Given the description of an element on the screen output the (x, y) to click on. 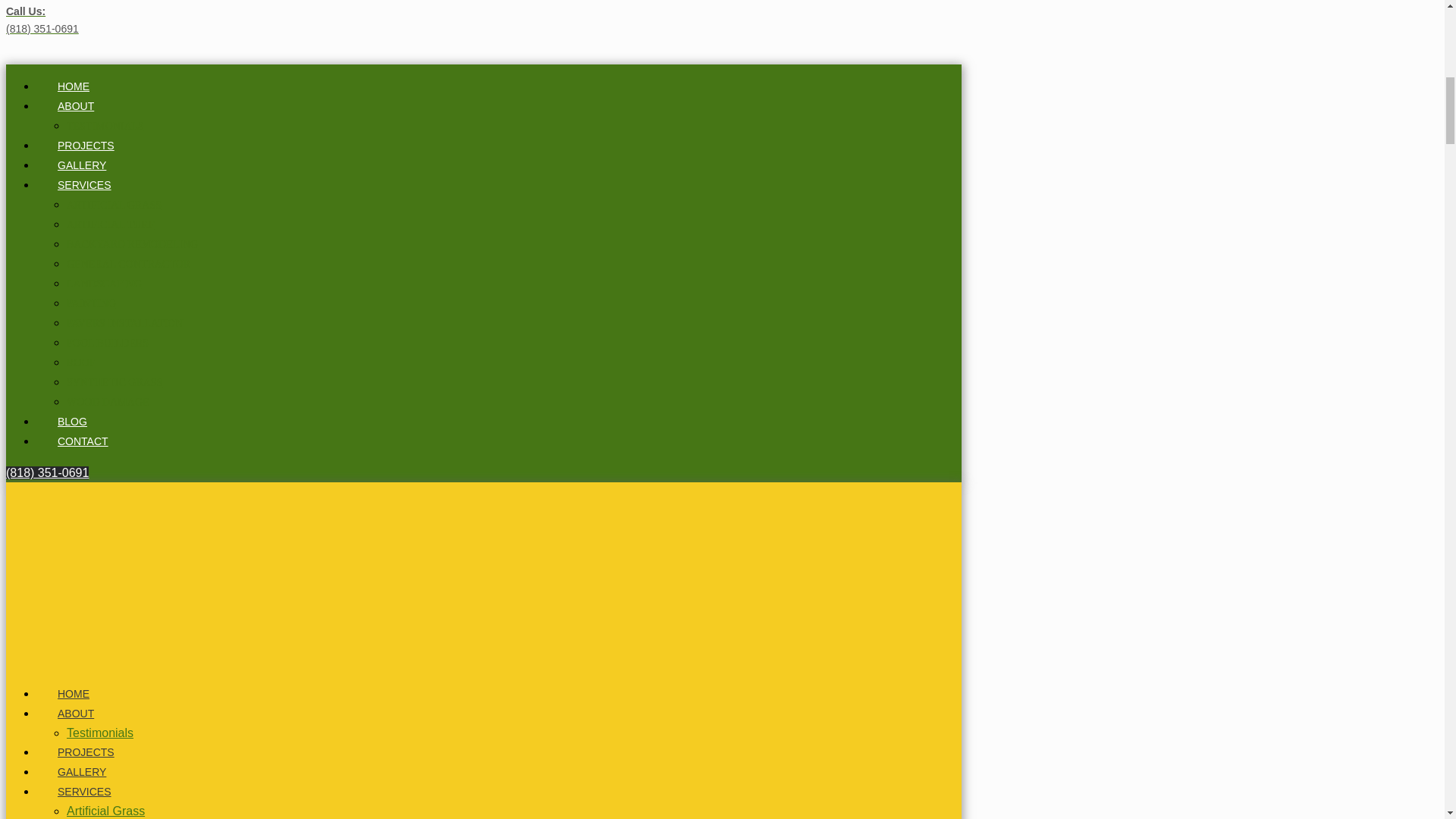
ABOUT (75, 105)
SERVICES (84, 184)
PAINTING (91, 303)
HOME (73, 86)
BACKYARD REMODELING (132, 244)
TESTIMONIALS (105, 125)
ARTIFICIAL TURF (110, 224)
LANDSCAPING (103, 283)
PAVERS INSTALLATION (124, 323)
ARTIFICIAL GRASS (113, 204)
PROJECTS (85, 144)
GALLERY (82, 165)
GENERAL CONTRACTOR (128, 264)
